Given the description of an element on the screen output the (x, y) to click on. 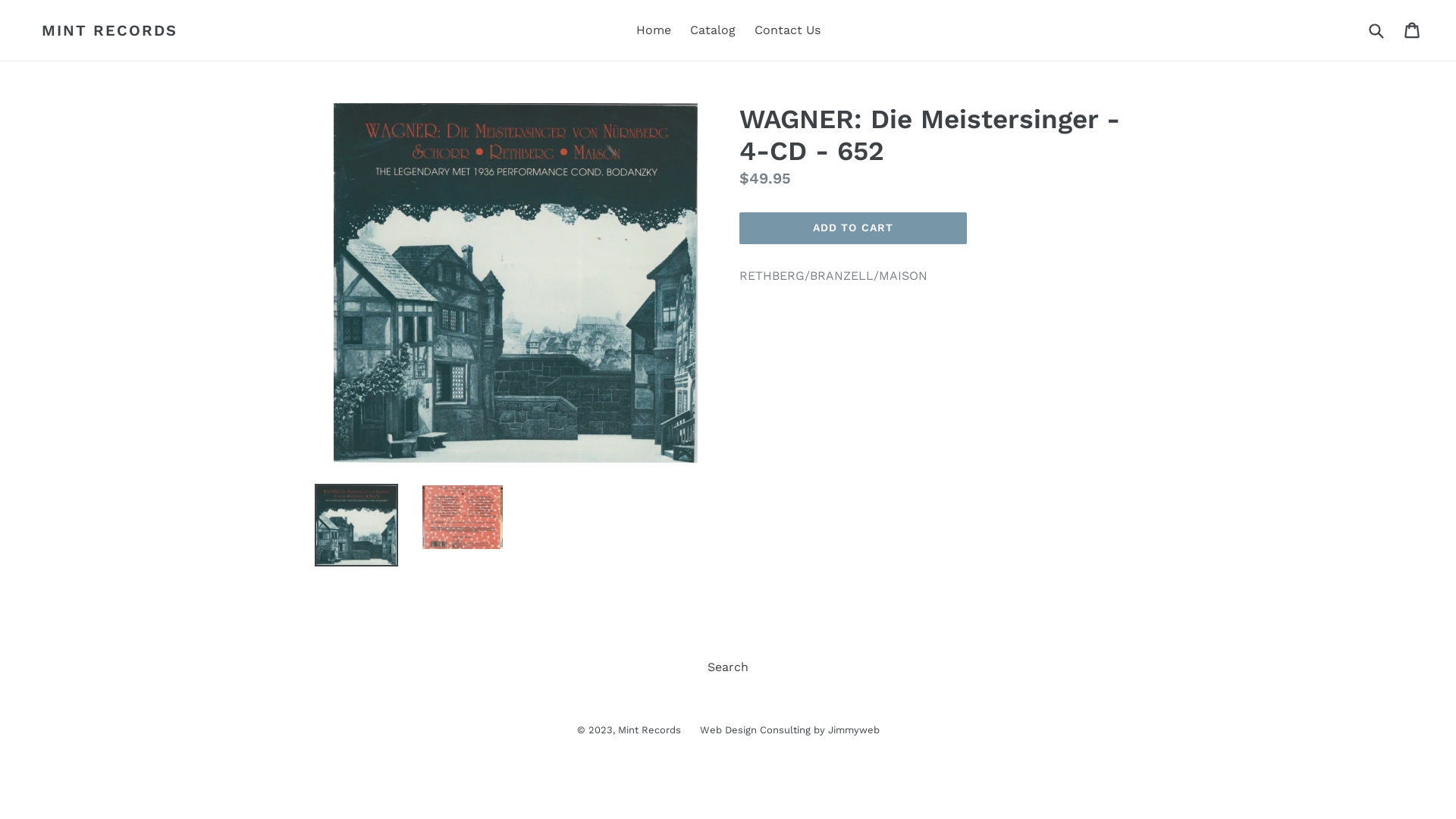
Web Design Element type: text (727, 729)
Consulting Element type: text (784, 729)
Contact Us Element type: text (786, 29)
Mint Records Element type: text (648, 729)
ADD TO CART Element type: text (852, 228)
Cart
Cart Element type: text (1412, 29)
Search Element type: text (727, 666)
Submit Element type: text (1375, 29)
Jimmyweb Element type: text (853, 729)
Catalog Element type: text (712, 29)
MINT RECORDS Element type: text (109, 30)
Home Element type: text (652, 29)
